Given the description of an element on the screen output the (x, y) to click on. 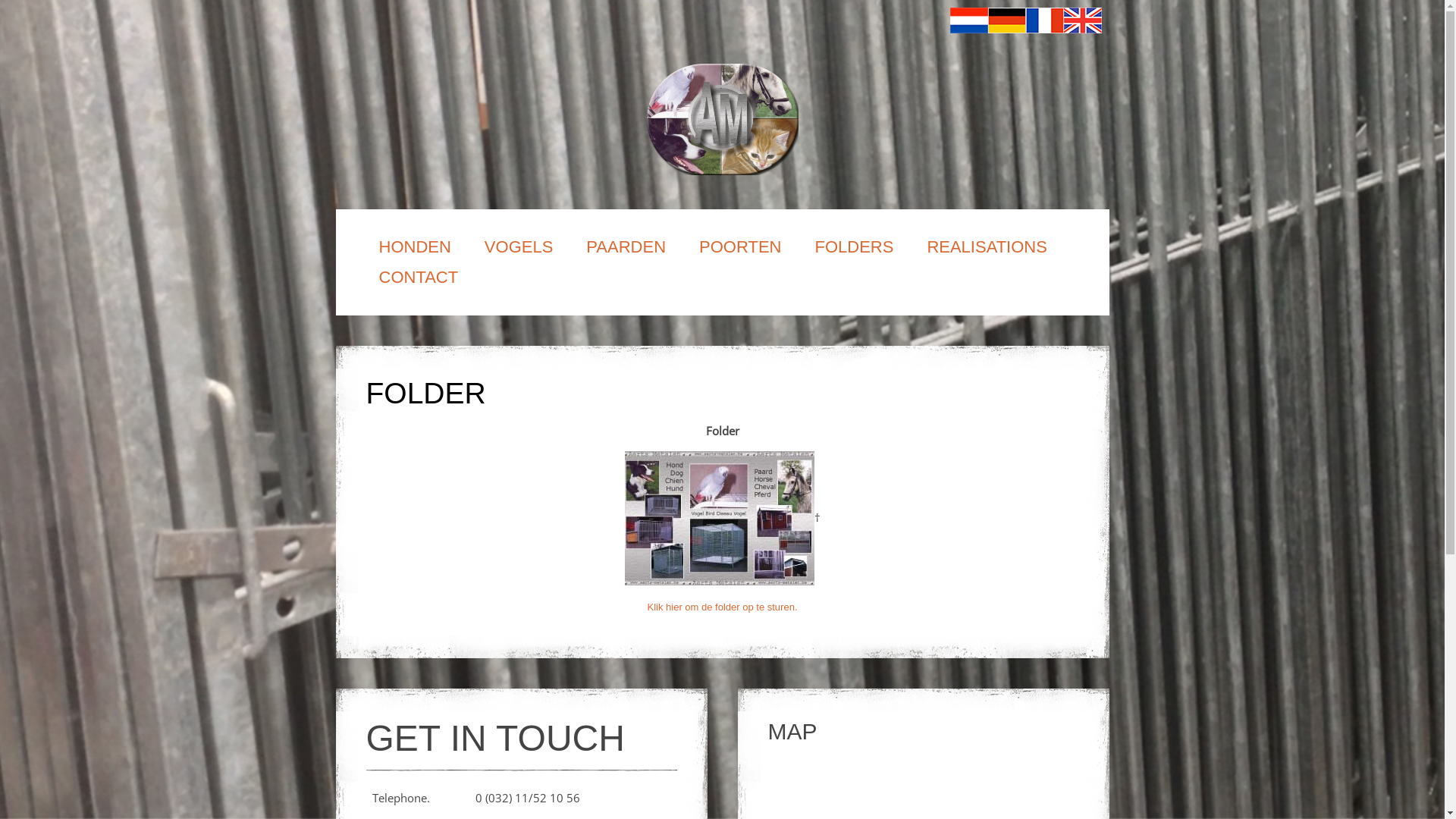
POORTEN Element type: text (735, 247)
PAARDEN Element type: text (621, 247)
VOGELS Element type: text (514, 247)
CONTACT Element type: text (413, 277)
FOLDERS Element type: text (849, 247)
Klik hier om de folder op te sturen. Element type: text (722, 605)
HONDEN Element type: text (410, 247)
REALISATIONS Element type: text (983, 247)
